Given the description of an element on the screen output the (x, y) to click on. 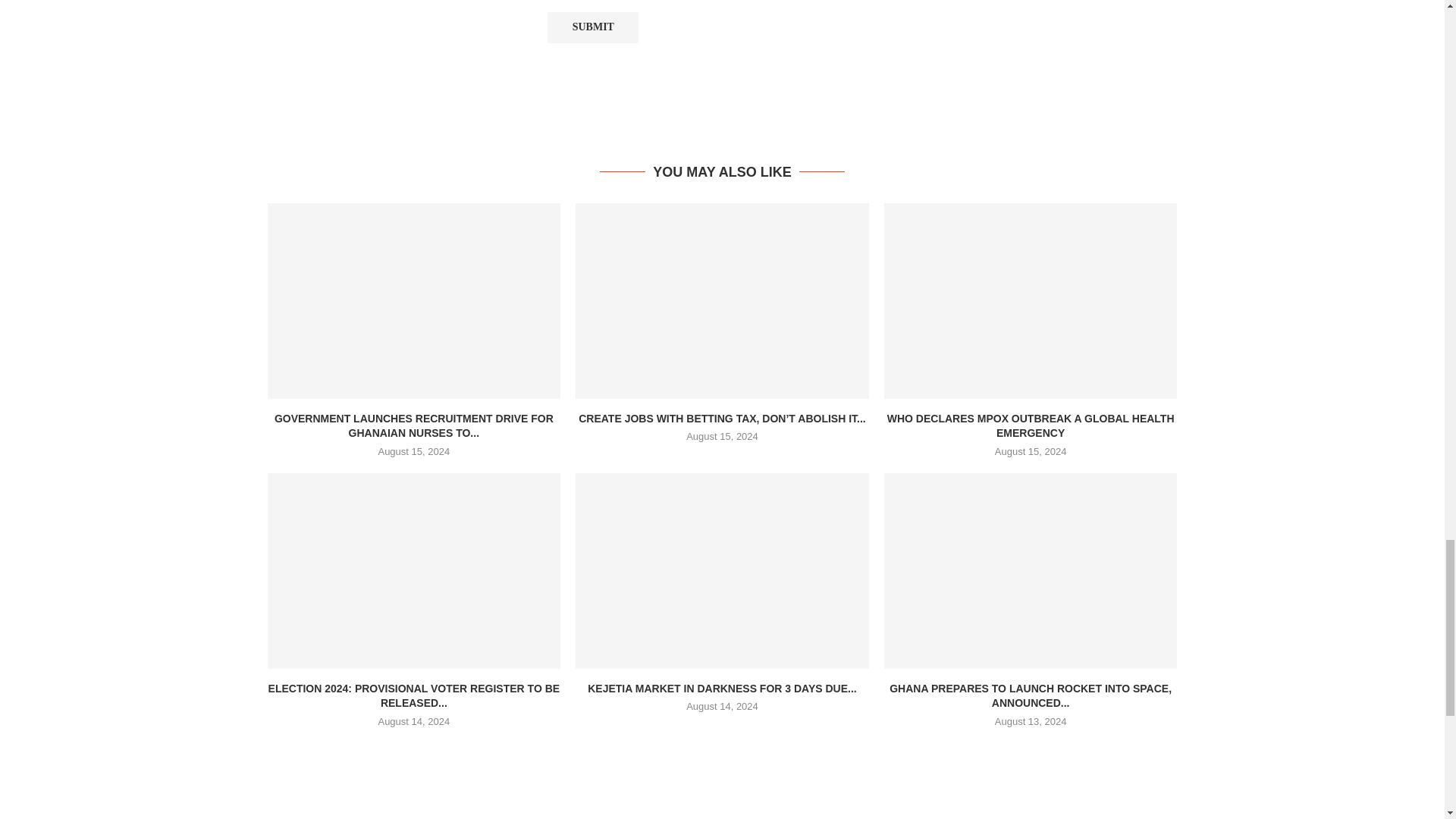
WHO Declares Mpox Outbreak a Global Health Emergency (1030, 300)
Submit (593, 27)
